Given the description of an element on the screen output the (x, y) to click on. 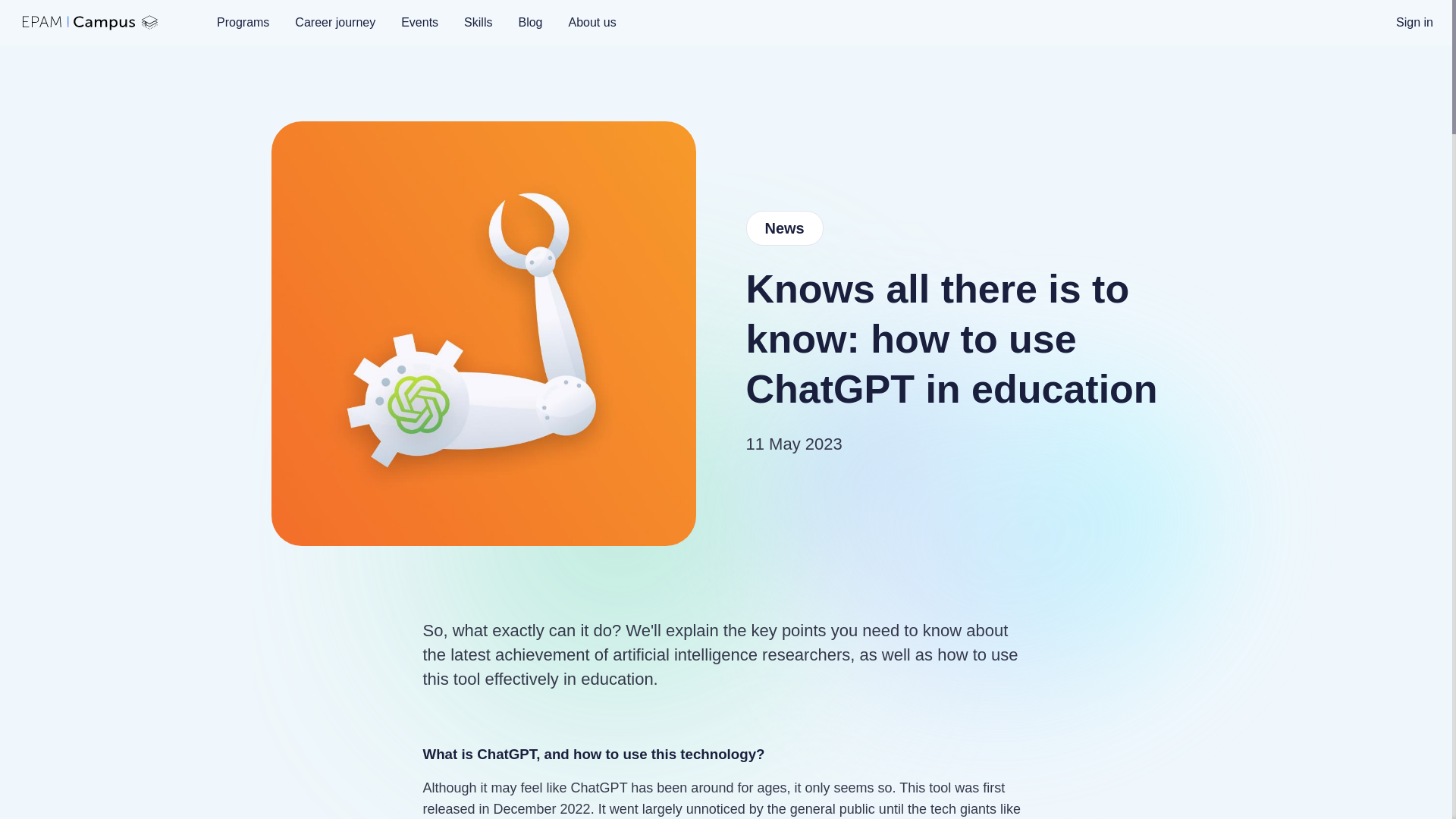
Events (419, 22)
Career journey (335, 22)
About us (591, 22)
Blog (529, 22)
Skills (478, 22)
Programs (242, 22)
